Given the description of an element on the screen output the (x, y) to click on. 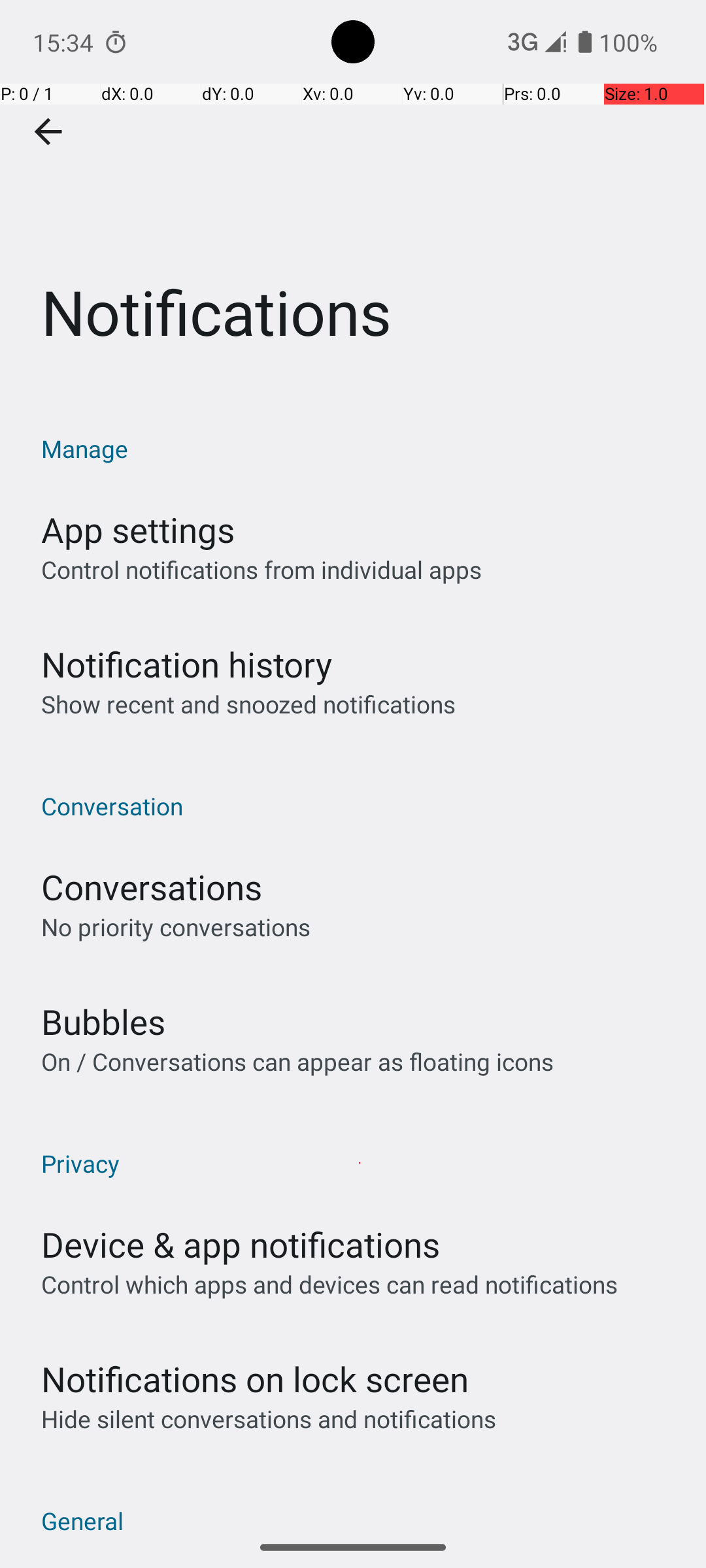
Manage Element type: android.widget.TextView (359, 448)
App settings Element type: android.widget.TextView (137, 529)
Control notifications from individual apps Element type: android.widget.TextView (261, 569)
Notification history Element type: android.widget.TextView (186, 663)
Show recent and snoozed notifications Element type: android.widget.TextView (248, 703)
Conversation Element type: android.widget.TextView (359, 805)
Conversations Element type: android.widget.TextView (151, 886)
No priority conversations Element type: android.widget.TextView (175, 926)
Bubbles Element type: android.widget.TextView (103, 1021)
On / Conversations can appear as floating icons Element type: android.widget.TextView (297, 1061)
Privacy Element type: android.widget.TextView (359, 1162)
Device & app notifications Element type: android.widget.TextView (240, 1244)
Control which apps and devices can read notifications Element type: android.widget.TextView (329, 1283)
Notifications on lock screen Element type: android.widget.TextView (254, 1378)
Hide silent conversations and notifications Element type: android.widget.TextView (268, 1418)
